Given the description of an element on the screen output the (x, y) to click on. 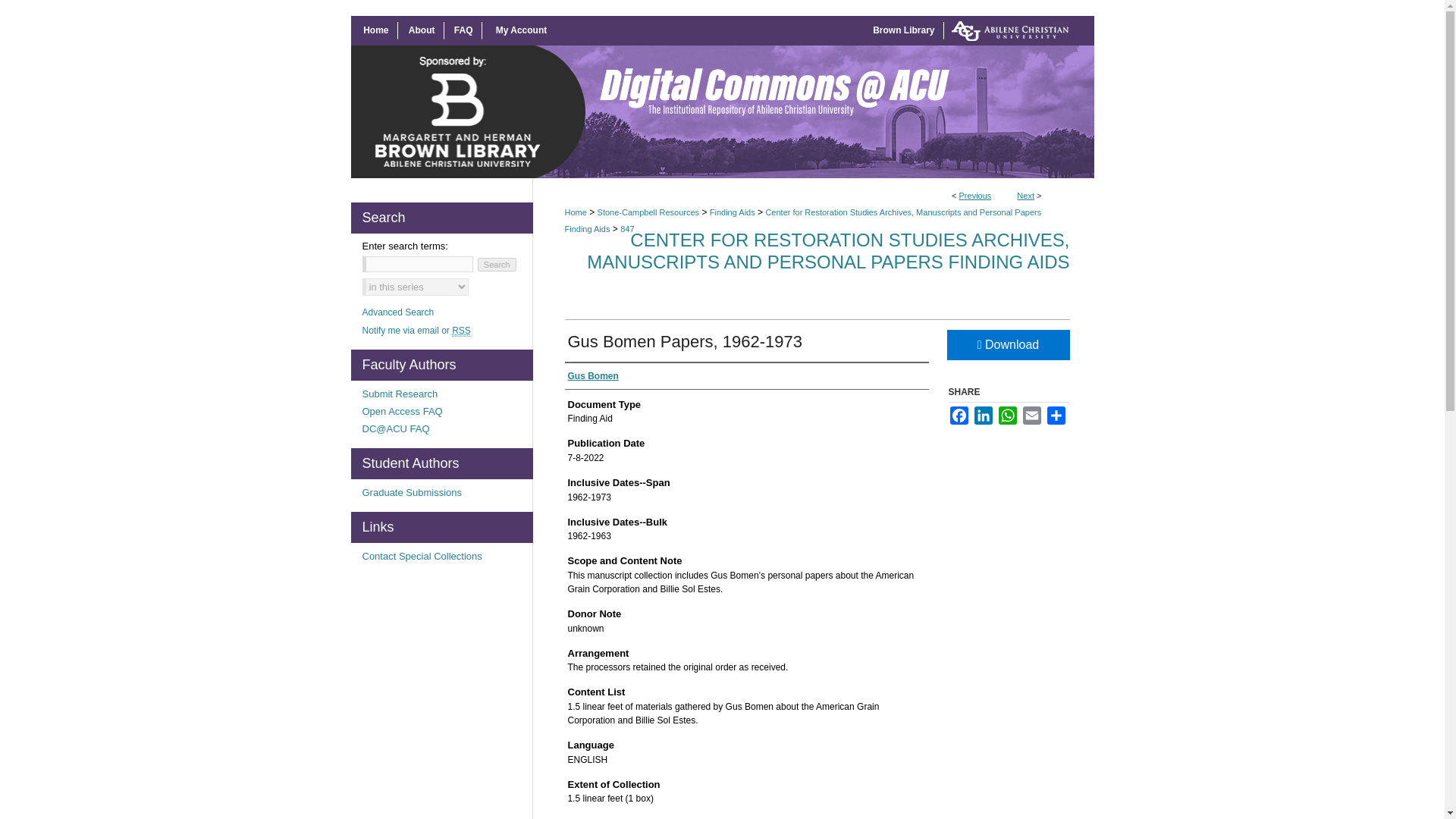
Search (496, 264)
Finding Aids (732, 212)
Search (496, 264)
Home (376, 30)
Previous (975, 194)
Advanced Search (397, 312)
Notify me via email or RSS (447, 330)
Home (376, 30)
Stone-Campbell Resources (648, 212)
